Given the description of an element on the screen output the (x, y) to click on. 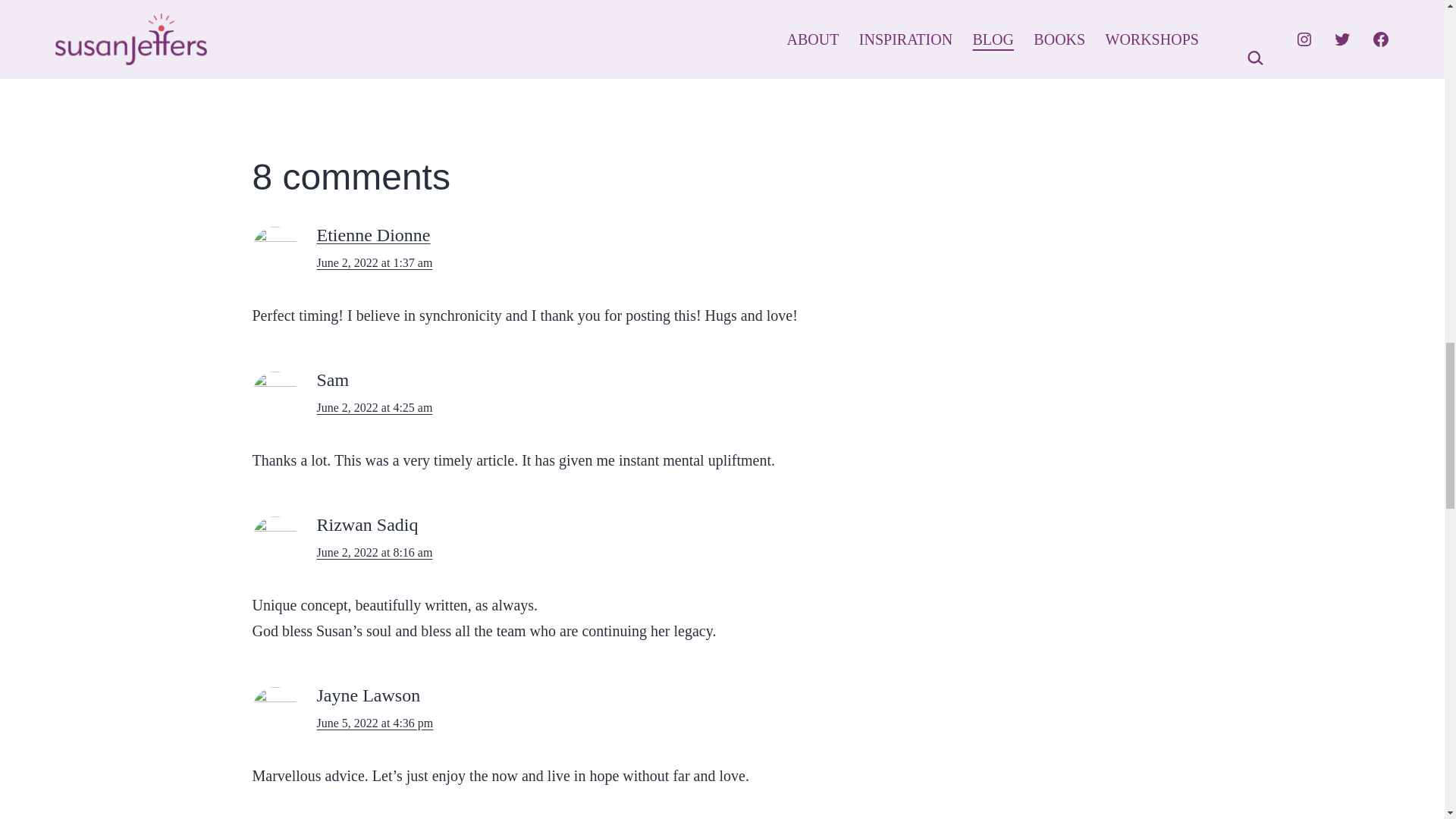
Etienne Dionne (373, 234)
June 5, 2022 at 4:36 pm (375, 722)
June 2, 2022 at 4:25 am (374, 407)
June 2, 2022 at 8:16 am (374, 552)
Monthly Article (349, 66)
June 2, 2022 at 1:37 am (374, 262)
Inspiration (277, 66)
